Given the description of an element on the screen output the (x, y) to click on. 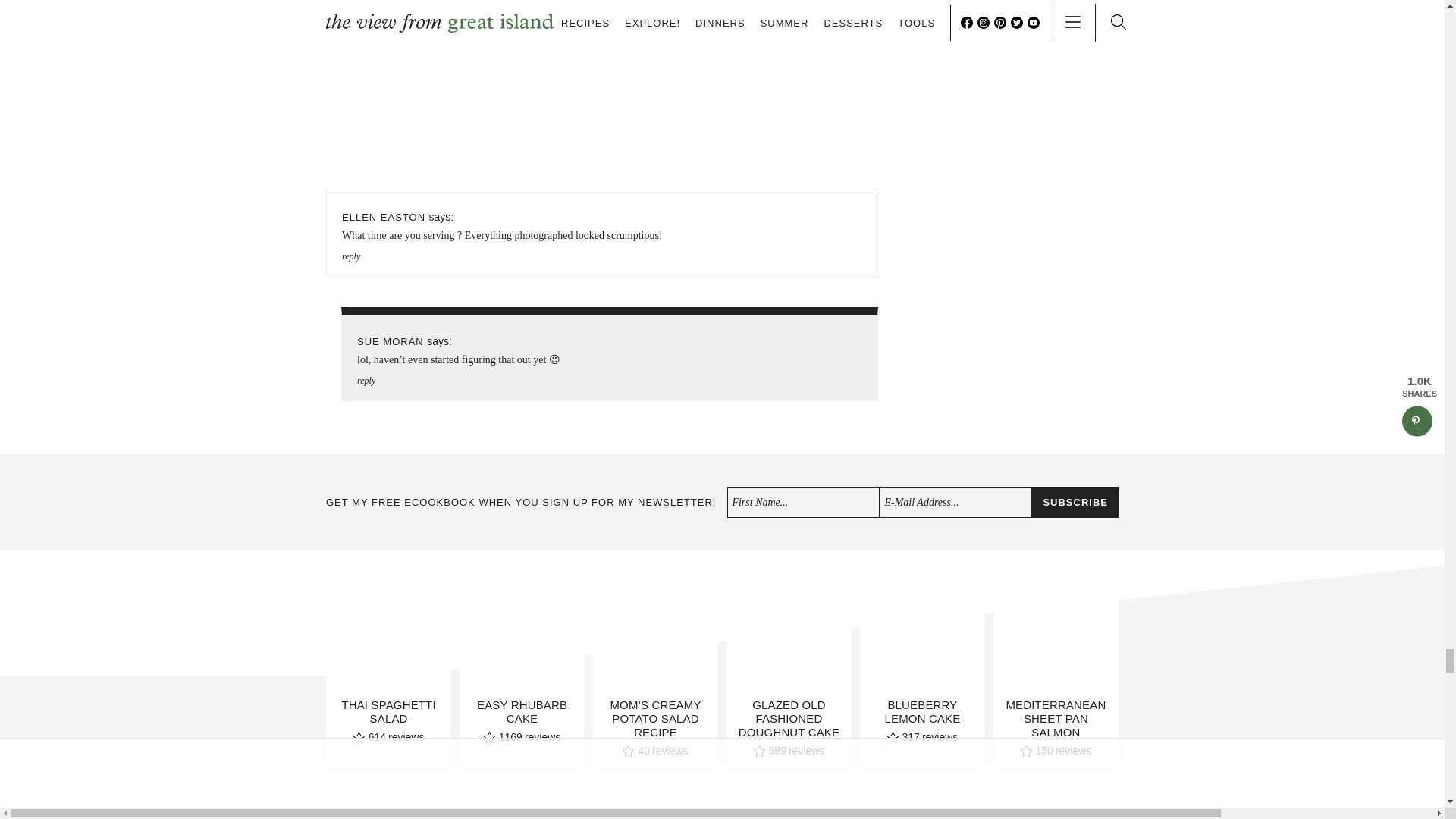
Subscribe (1075, 501)
